Given the description of an element on the screen output the (x, y) to click on. 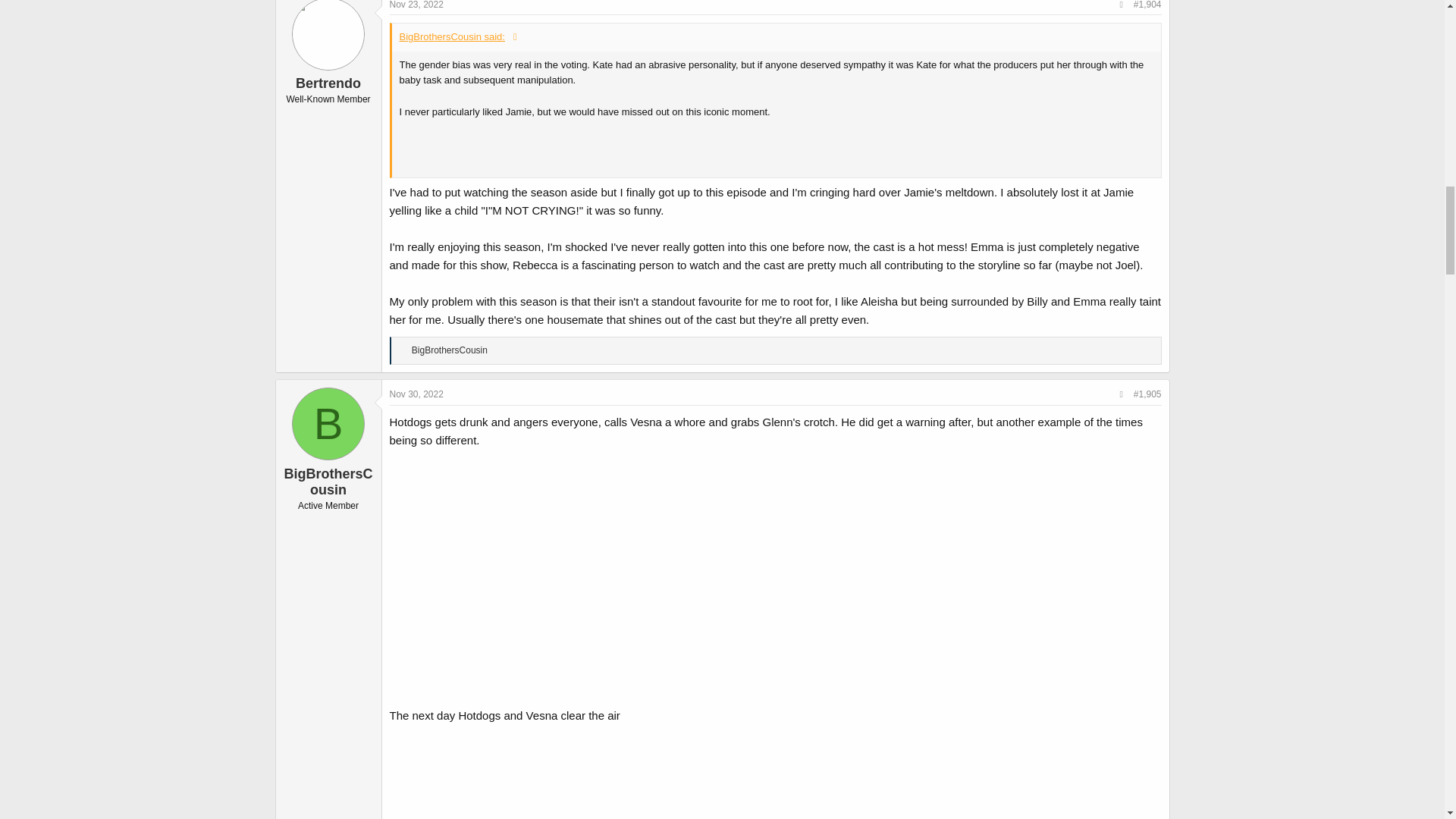
Nov 23, 2022 at 8:38 PM (417, 4)
Nov 30, 2022 at 3:36 PM (417, 394)
Like (403, 350)
